Given the description of an element on the screen output the (x, y) to click on. 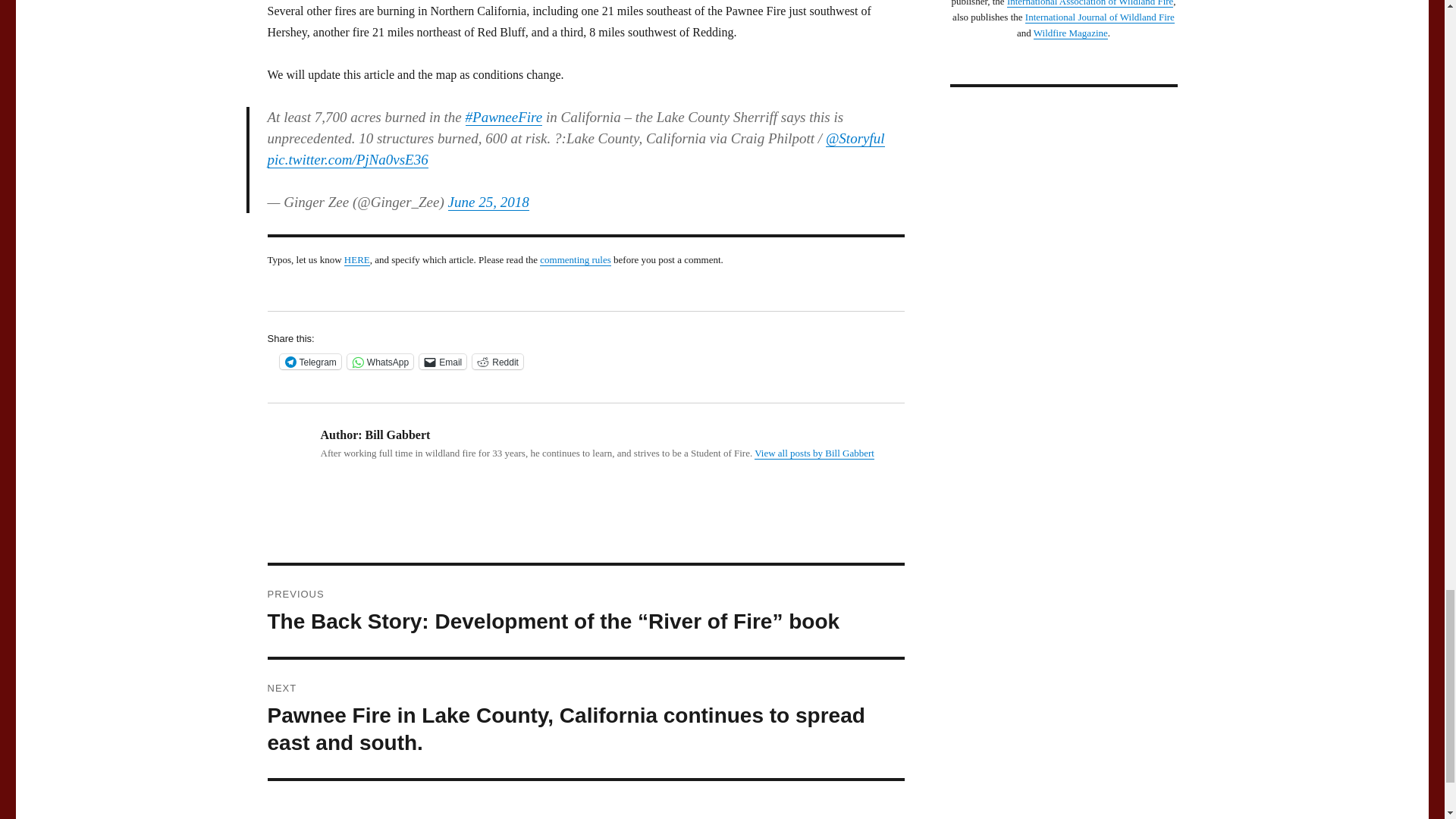
Click to share on WhatsApp (380, 361)
View all posts by Bill Gabbert (814, 452)
Telegram (309, 361)
Email (442, 361)
Reddit (496, 361)
WhatsApp (380, 361)
HERE (356, 259)
Click to share on Telegram (309, 361)
Click to share on Reddit (496, 361)
commenting rules (575, 259)
